Given the description of an element on the screen output the (x, y) to click on. 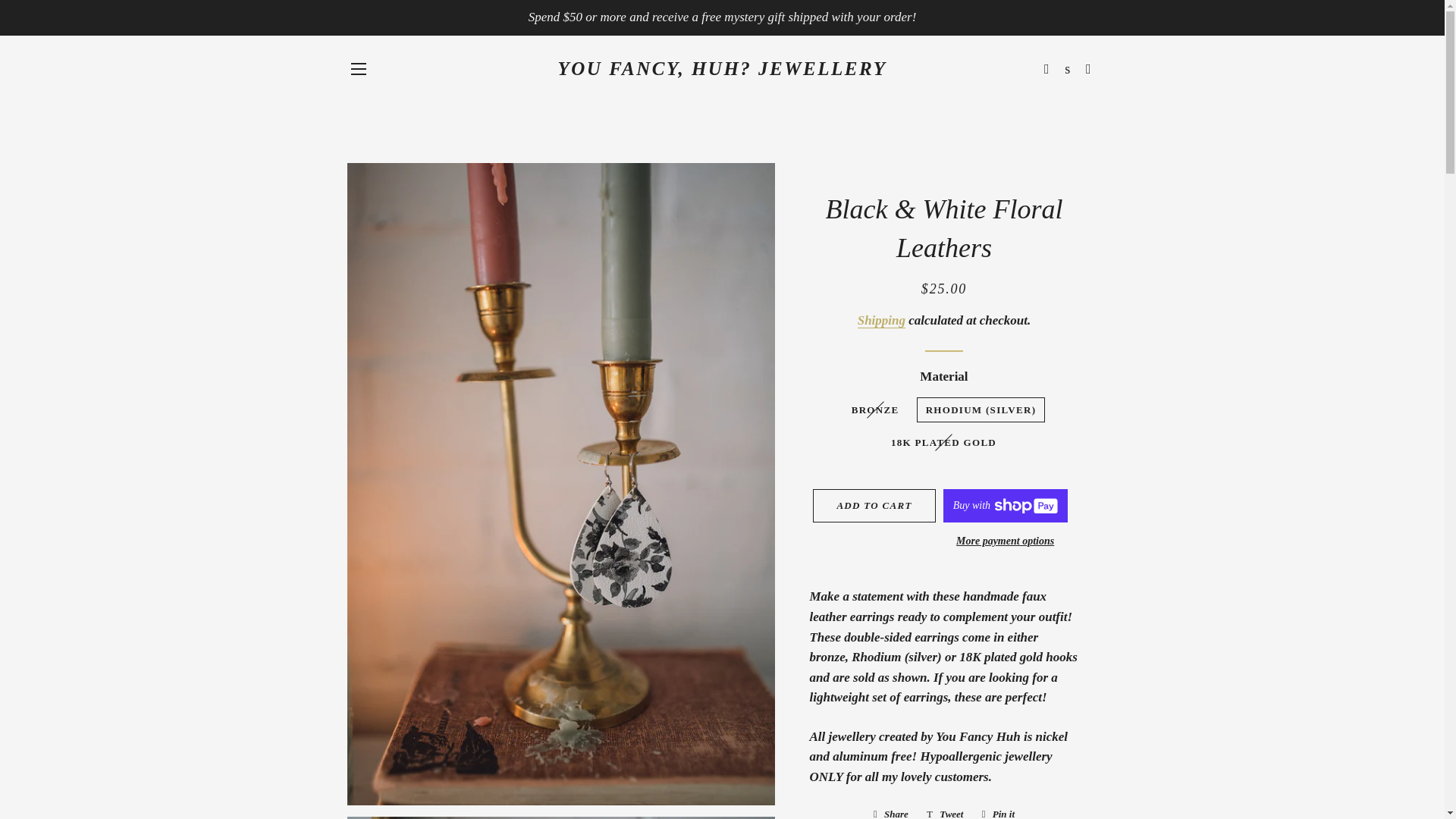
Share on Facebook (890, 811)
Pin on Pinterest (998, 811)
Tweet on Twitter (944, 811)
